Given the description of an element on the screen output the (x, y) to click on. 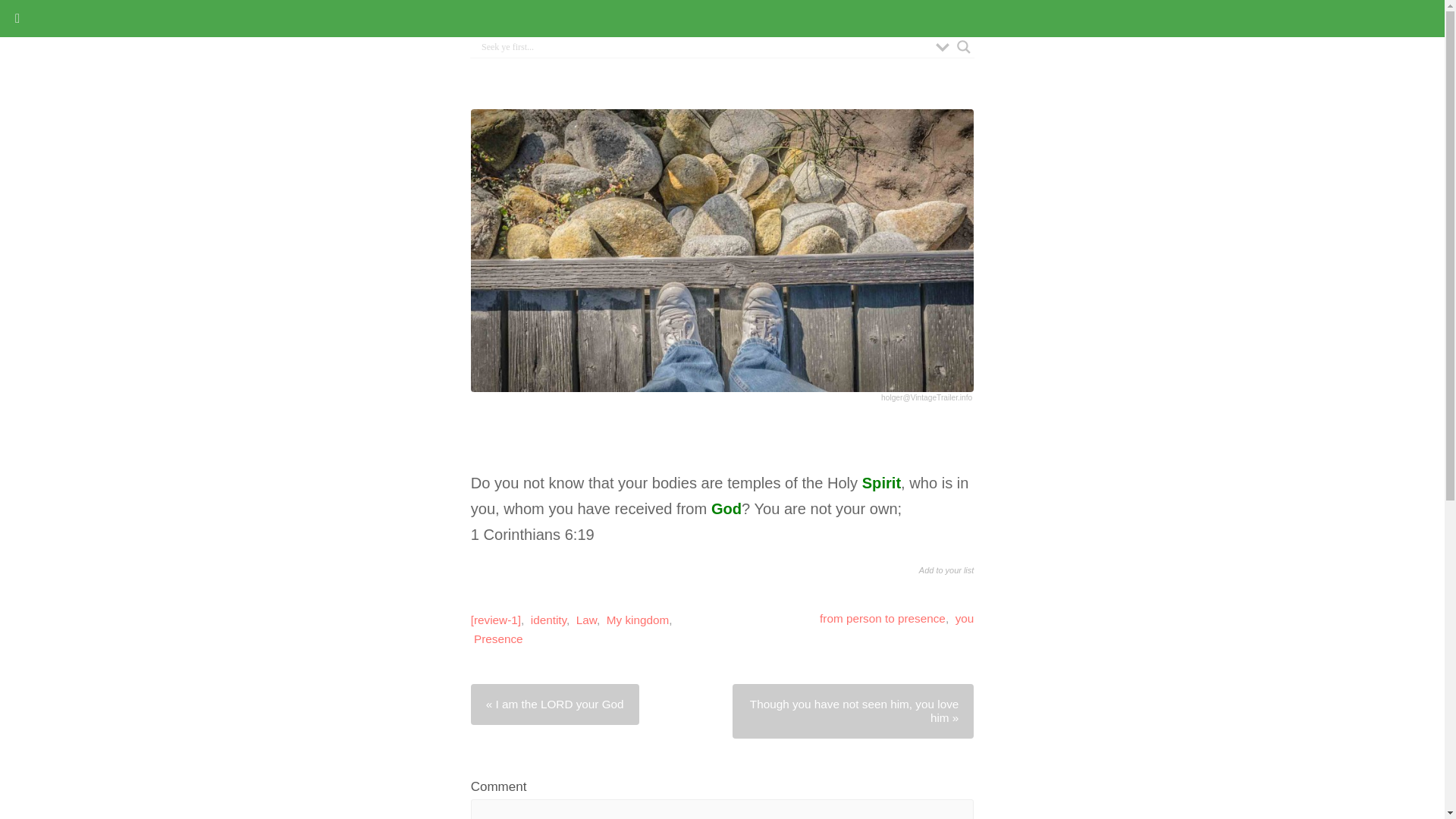
Law (586, 619)
you (964, 617)
identity (548, 619)
Previous post: I am the LORD your God (554, 703)
Next post: Though you have not seen him, you love him (853, 710)
My kingdom (637, 619)
Presence (498, 638)
Add to your list (946, 589)
from person to presence (881, 617)
